Given the description of an element on the screen output the (x, y) to click on. 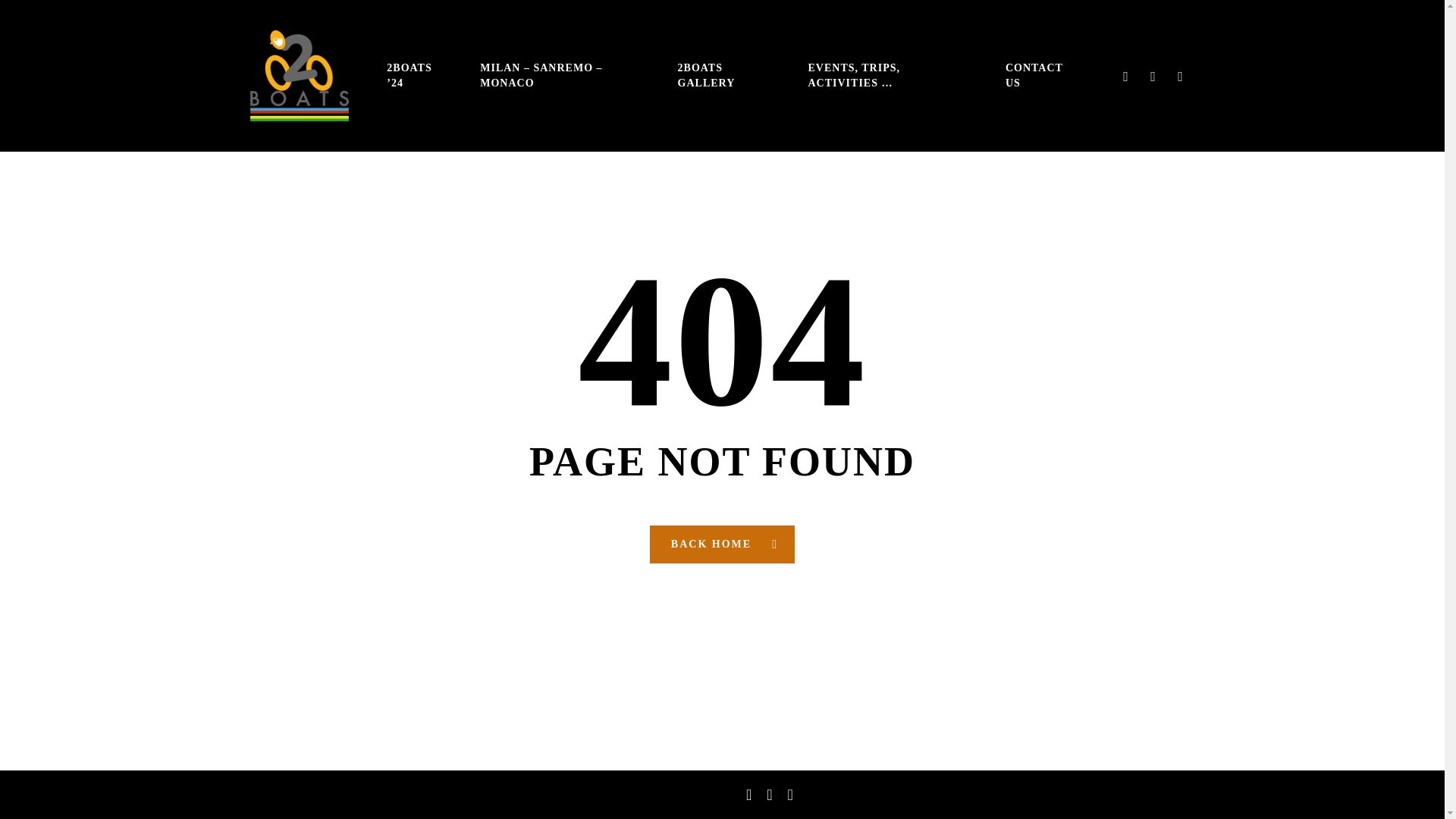
2BOATS GALLERY (724, 75)
TWITTER (1126, 76)
twitter (748, 794)
FACEBOOK (1153, 76)
BACK HOME (721, 543)
facebook (769, 794)
instagram (790, 794)
CONTACT US (1038, 75)
INSTAGRAM (1180, 76)
